Given the description of an element on the screen output the (x, y) to click on. 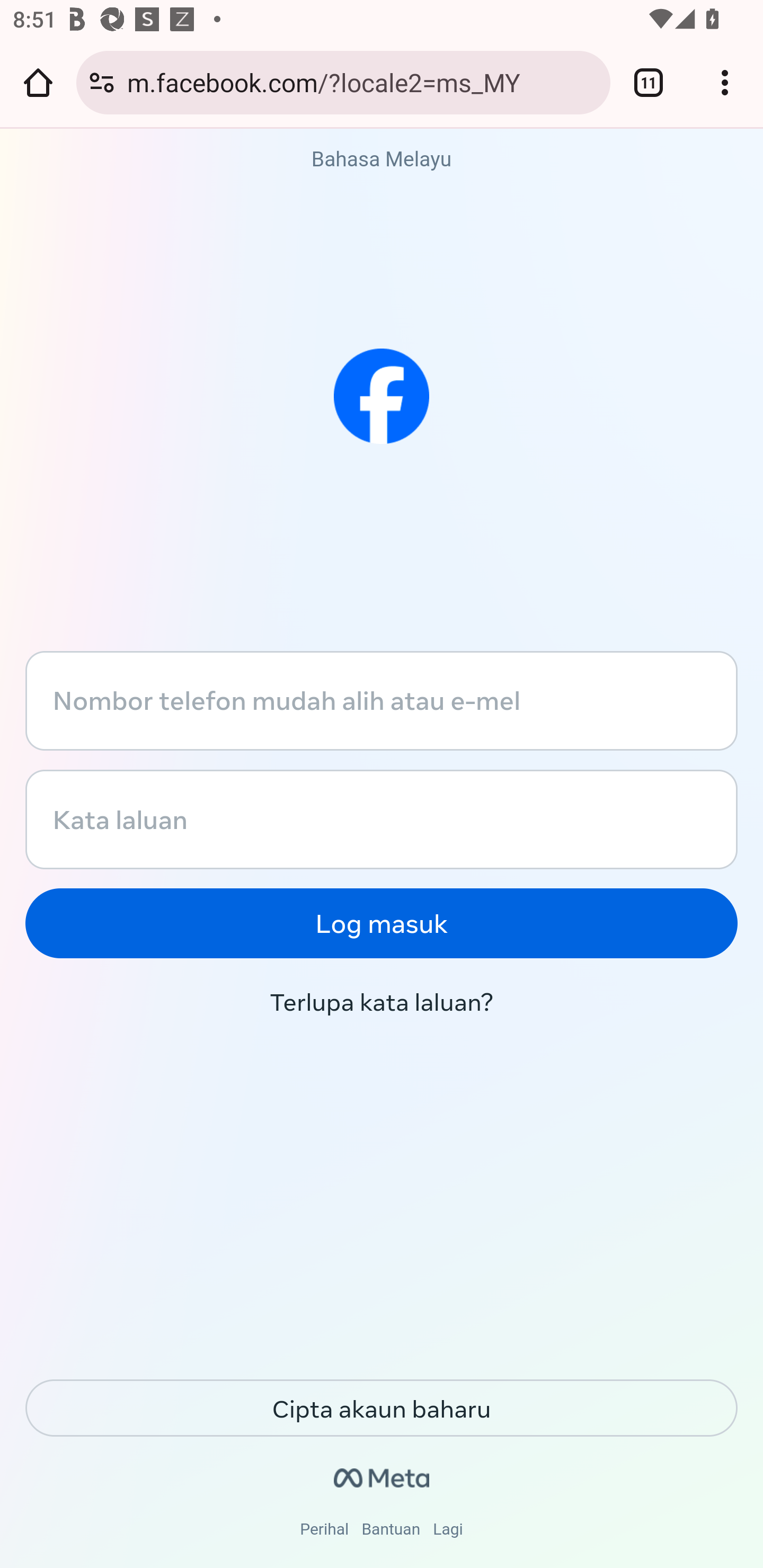
Open the home page (38, 82)
Connection is secure (101, 82)
Switch or close tabs (648, 82)
Customize and control Google Chrome (724, 82)
m.facebook.com/?locale2=ms_MY (362, 82)
